Given the description of an element on the screen output the (x, y) to click on. 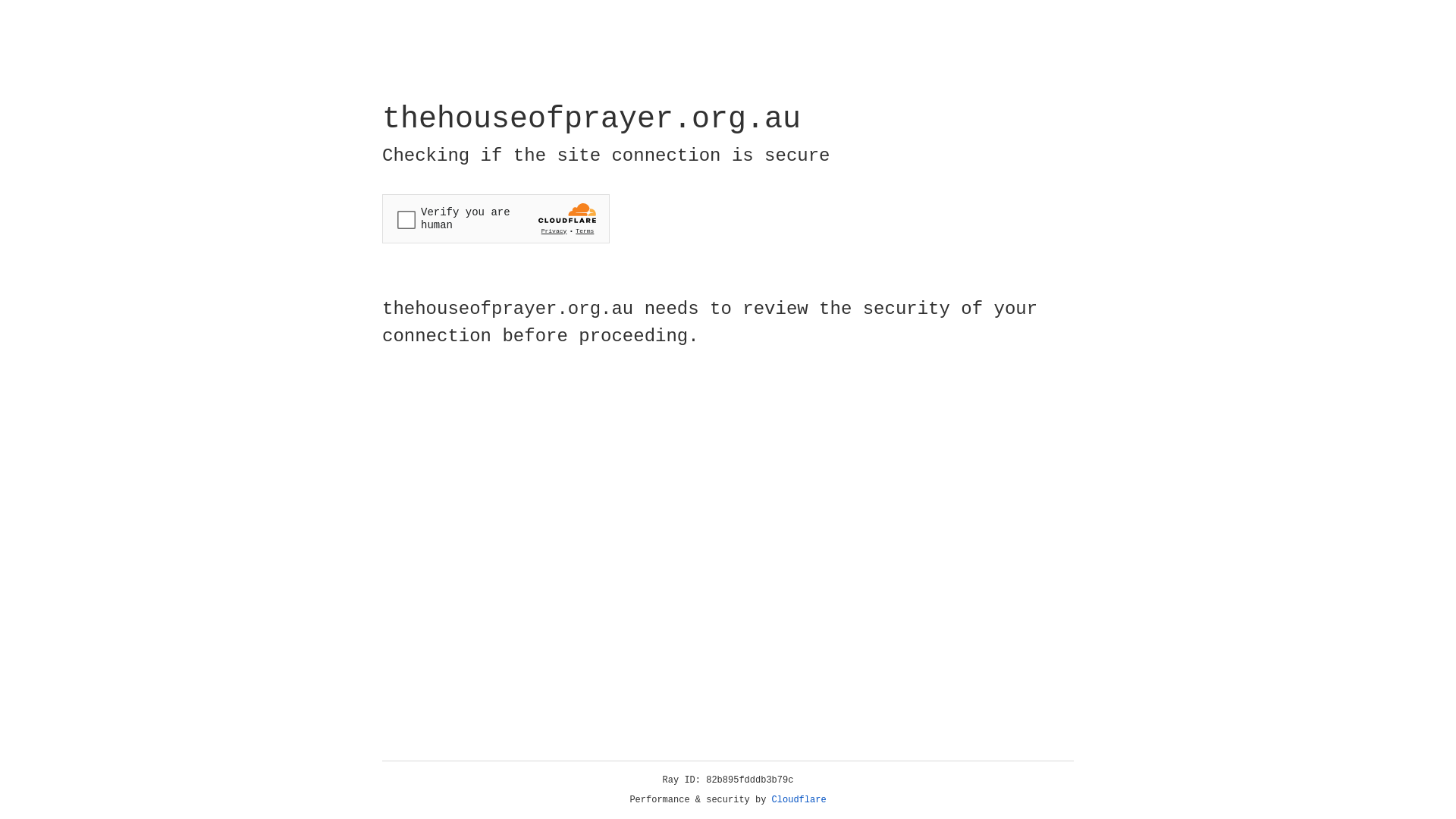
Widget containing a Cloudflare security challenge Element type: hover (495, 218)
Cloudflare Element type: text (798, 799)
